Given the description of an element on the screen output the (x, y) to click on. 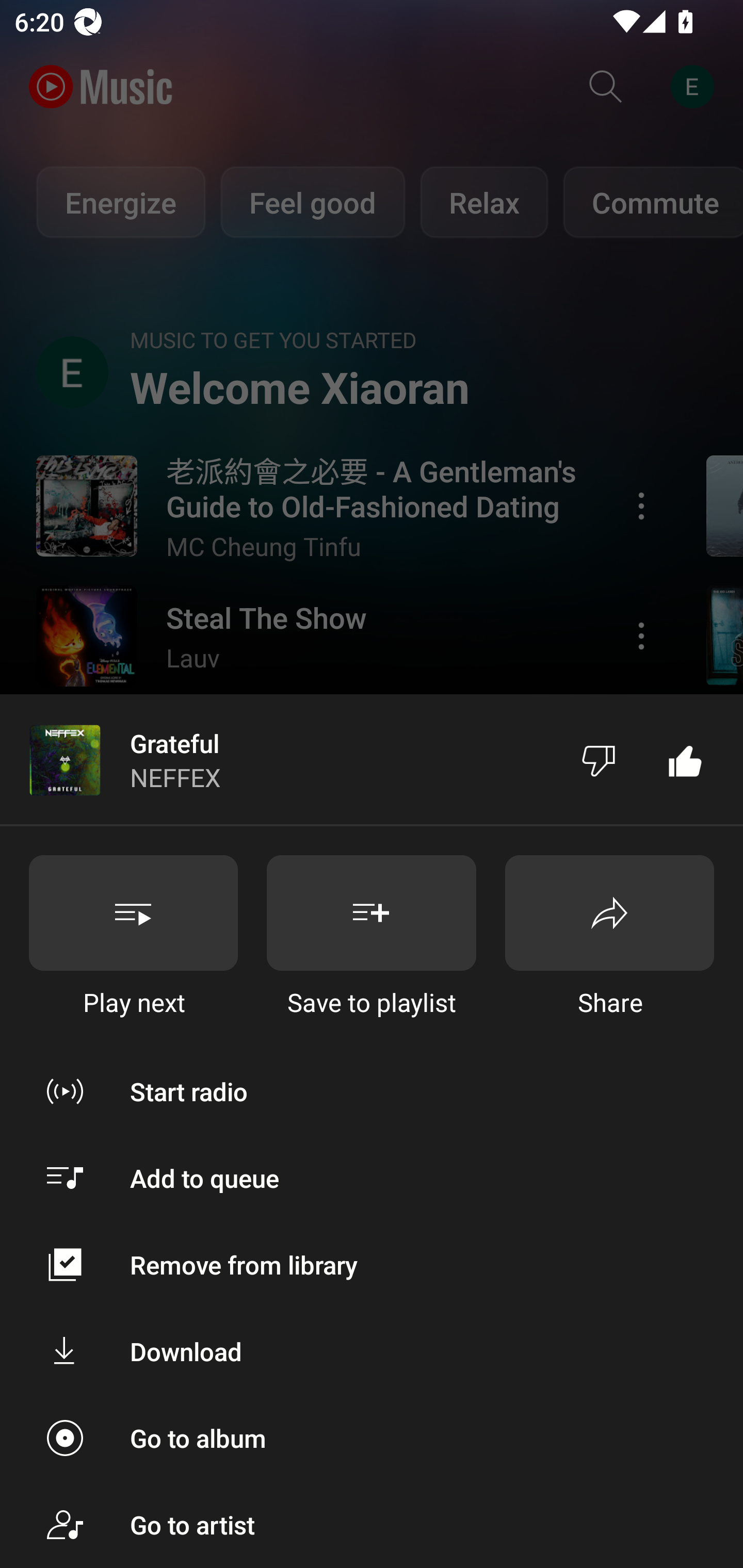
Dislike (598, 759)
Undo like (684, 759)
Start radio (371, 1091)
Add to queue (371, 1178)
Remove from library (371, 1264)
Download (371, 1350)
Go to album (371, 1437)
Go to artist (371, 1524)
